Given the description of an element on the screen output the (x, y) to click on. 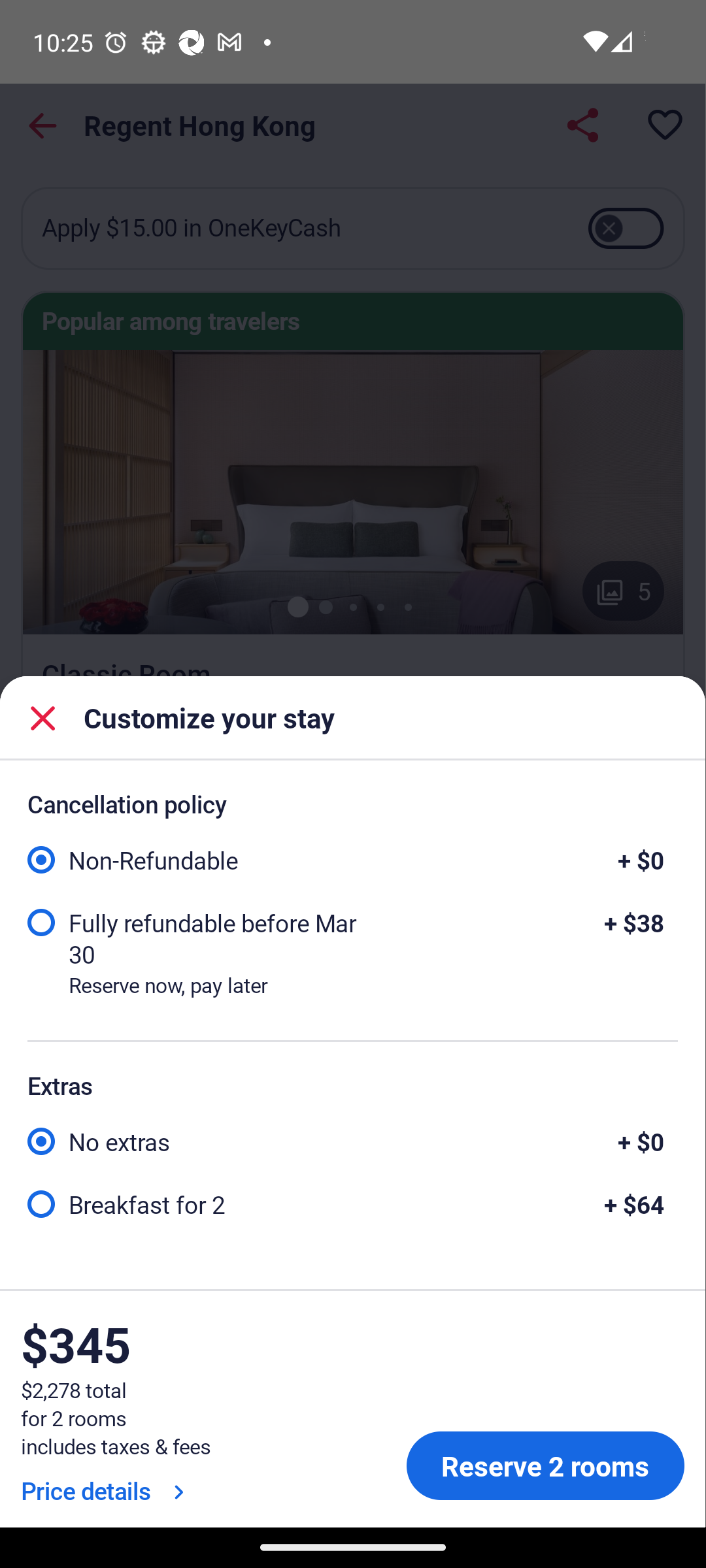
Close sheet (43, 717)
Breakfast for 2 + $64 (352, 1202)
Reserve 2 rooms for Classic Room Reserve 2 rooms (545, 1465)
